Given the description of an element on the screen output the (x, y) to click on. 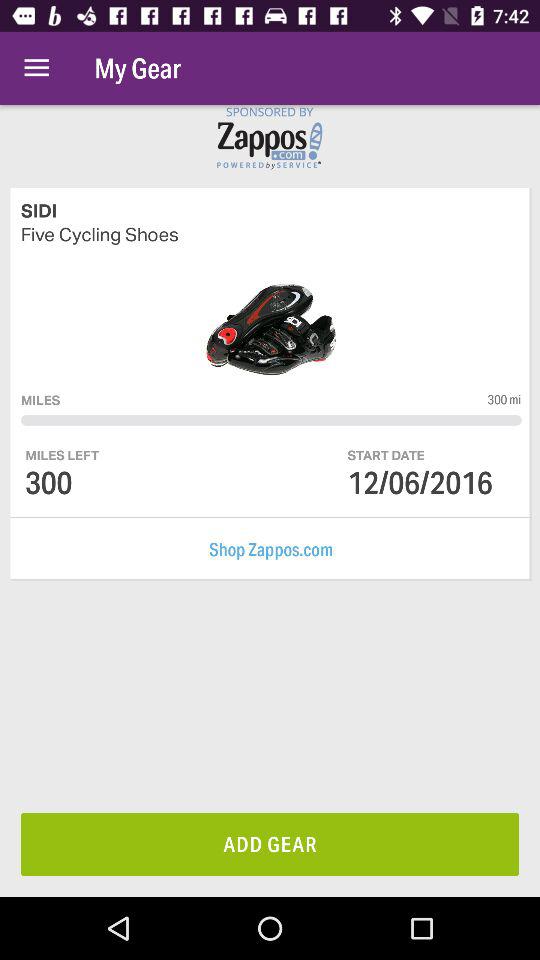
click start date icon (385, 454)
